Given the description of an element on the screen output the (x, y) to click on. 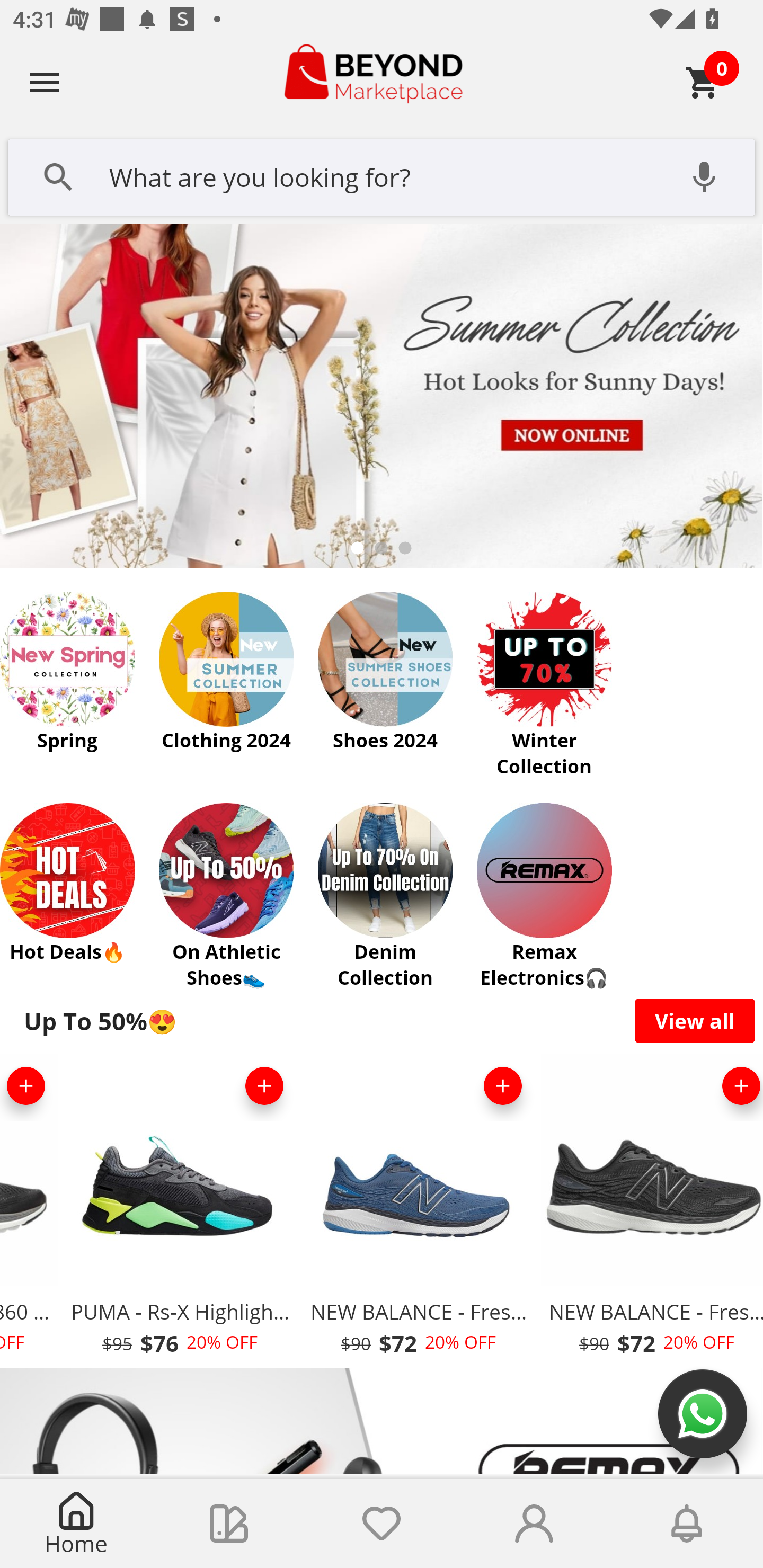
Navigate up (44, 82)
What are you looking for? (381, 175)
View all (694, 1020)
Collections (228, 1523)
Wishlist (381, 1523)
Account (533, 1523)
Notifications (686, 1523)
